Given the description of an element on the screen output the (x, y) to click on. 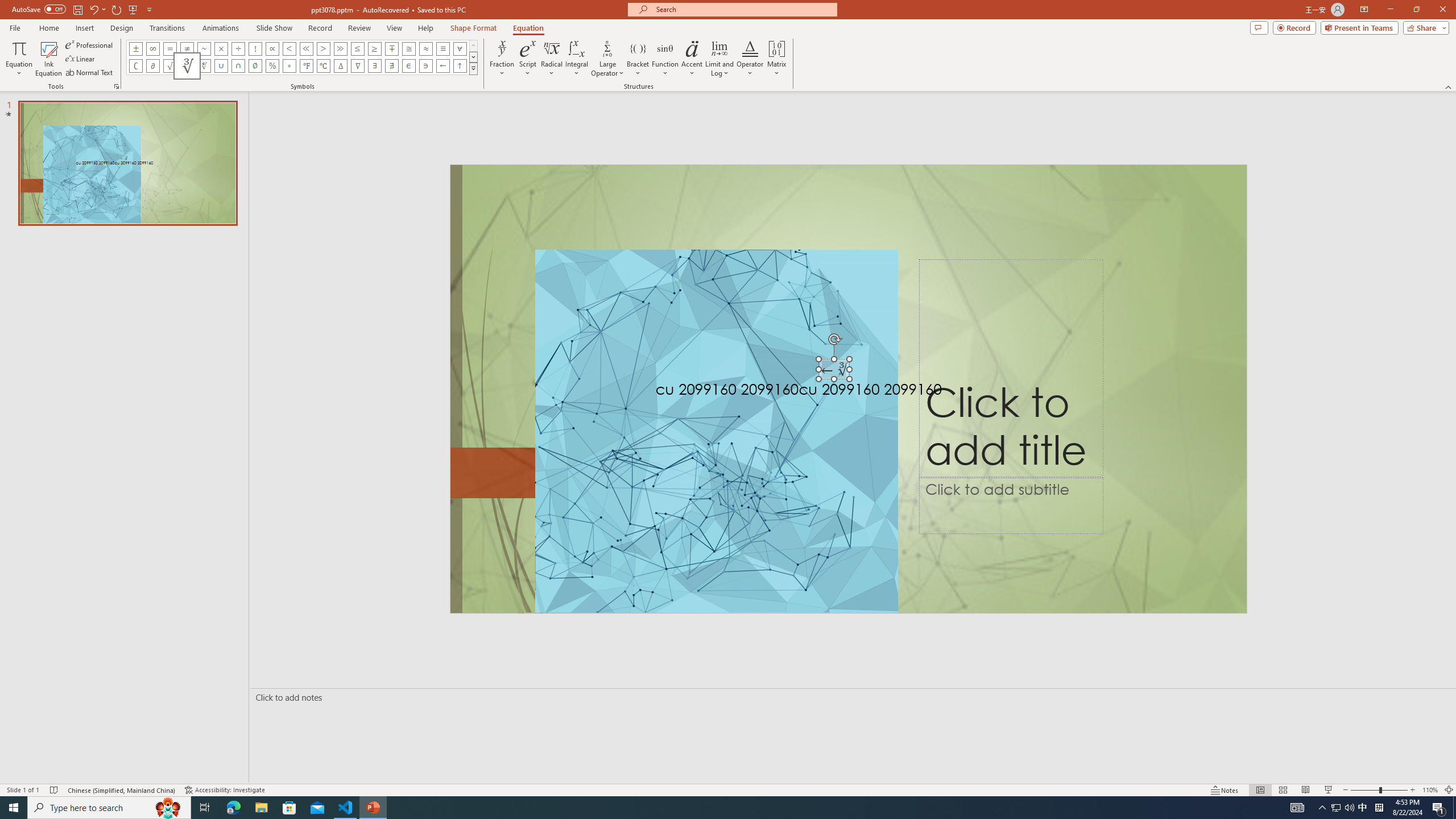
Equation Symbol Division Sign (238, 48)
Operator (749, 58)
Equation Symbol Minus Plus (391, 48)
Equation Symbol Radical Sign (170, 65)
Equation Symbol Approximately Equal To (408, 48)
Normal Text (90, 72)
Equation Symbol Empty Set (255, 65)
Fraction (502, 58)
